Given the description of an element on the screen output the (x, y) to click on. 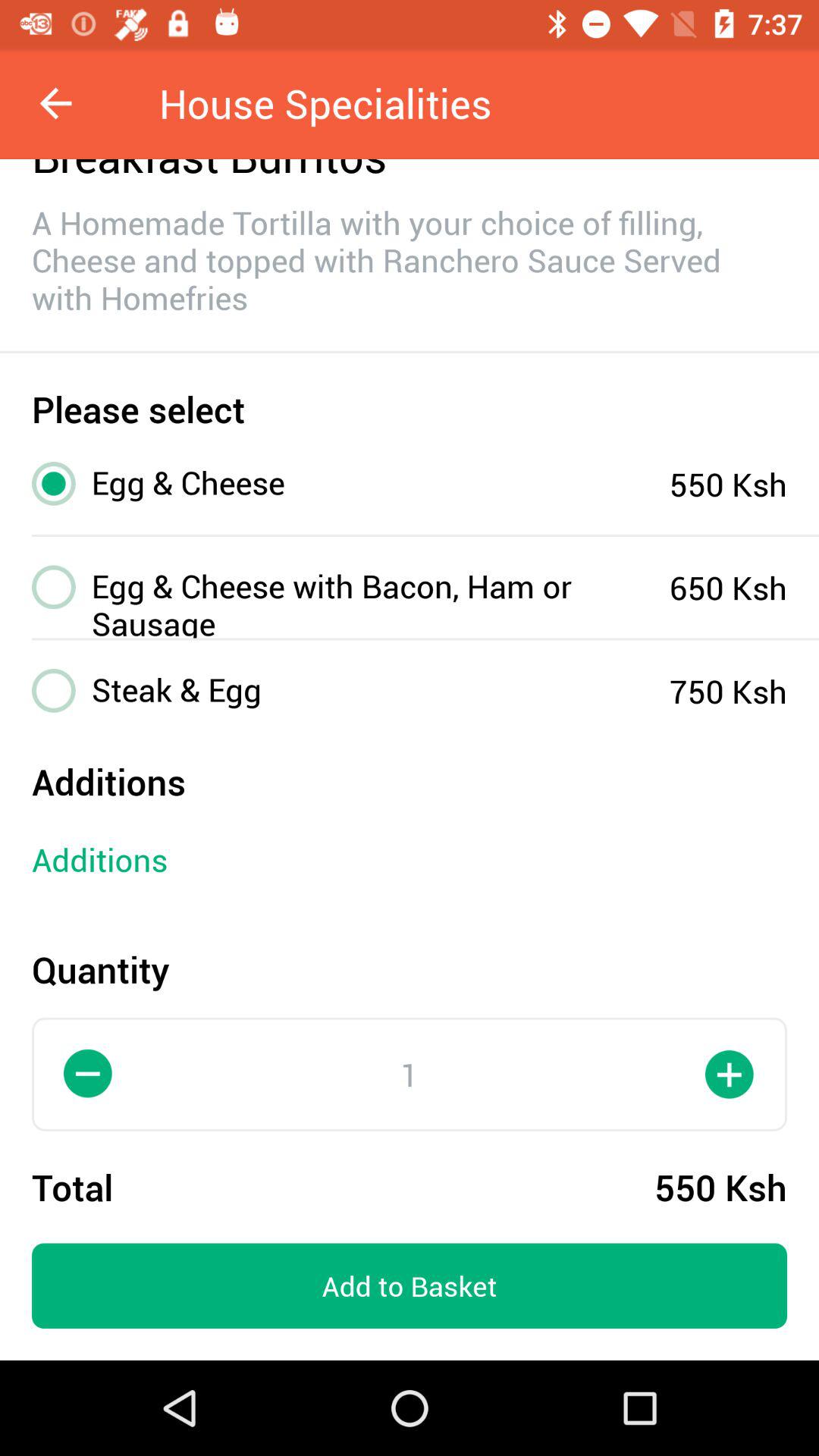
turn off item to the right of 1 (730, 1074)
